Given the description of an element on the screen output the (x, y) to click on. 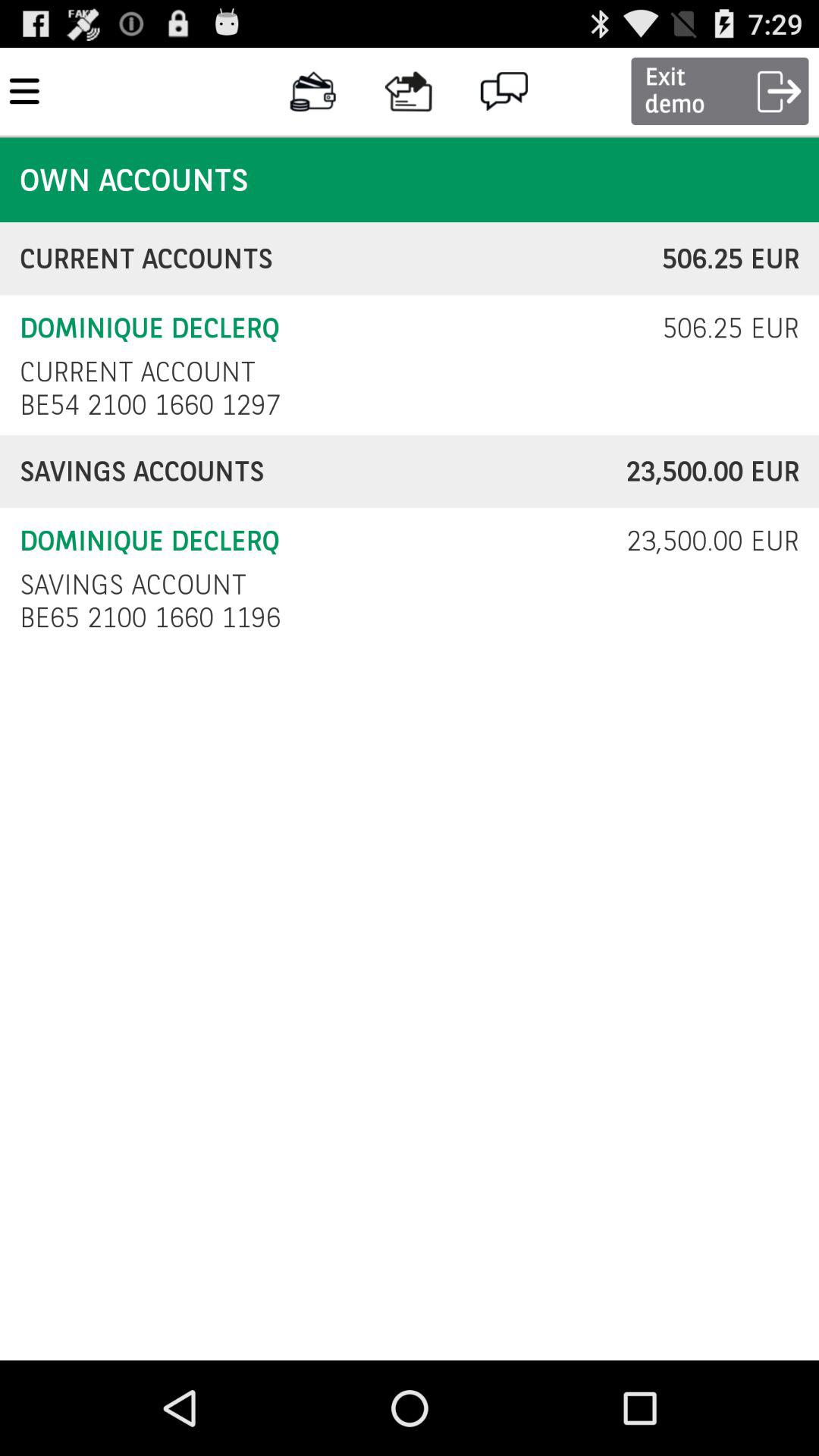
open the checkbox below the savings account checkbox (153, 617)
